Given the description of an element on the screen output the (x, y) to click on. 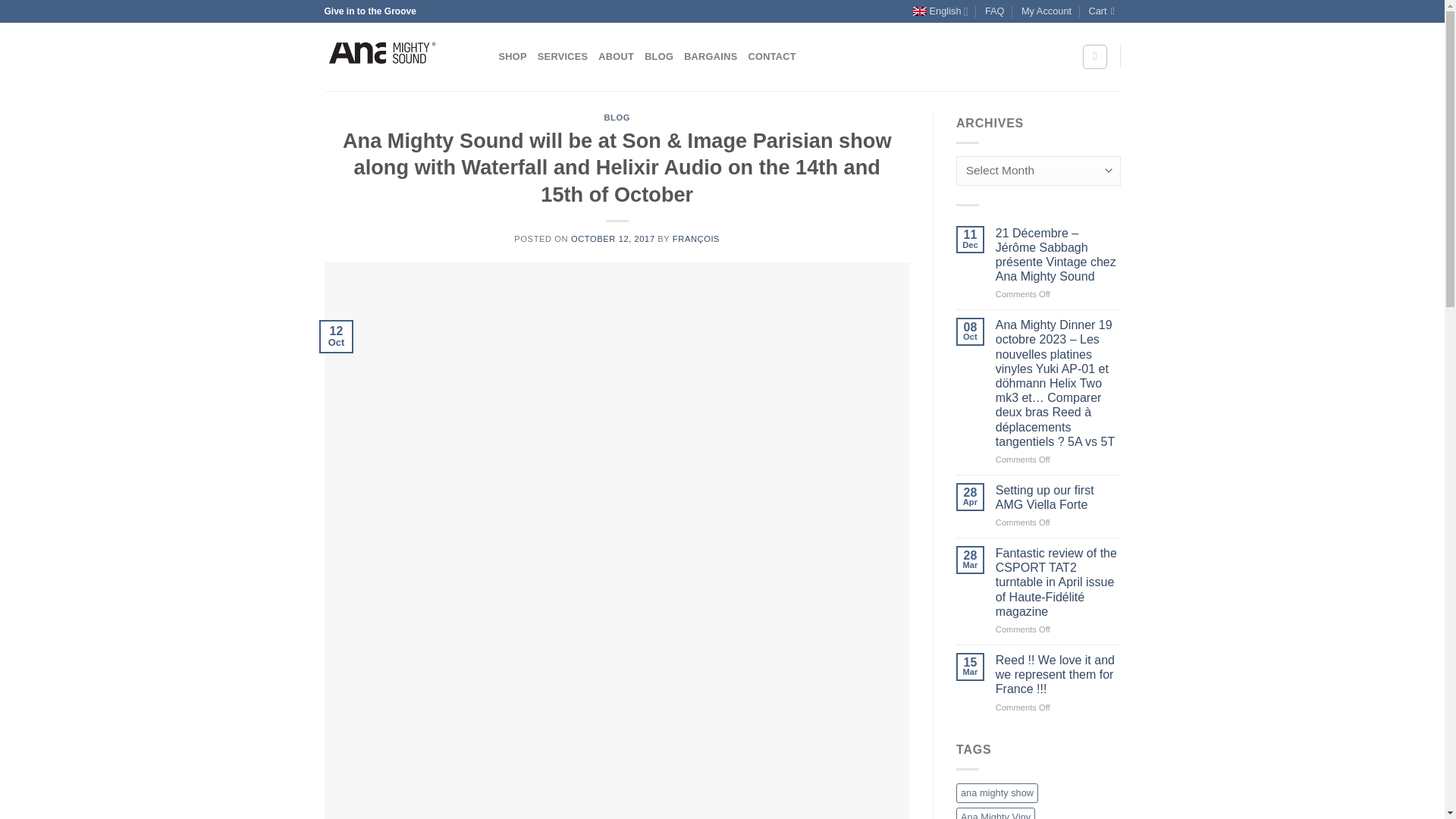
Reed !! We love it and we represent them for France !!! (1058, 674)
ABOUT (615, 56)
Setting up our first AMG Viella Forte (1058, 497)
English (940, 11)
Cart (1103, 11)
Setting up our first AMG Viella Forte (1058, 497)
BARGAINS (710, 56)
English (940, 11)
OCTOBER 12, 2017 (612, 238)
My Account (1046, 11)
SERVICES (562, 56)
BLOG (617, 117)
SHOP (513, 56)
CONTACT (771, 56)
